Given the description of an element on the screen output the (x, y) to click on. 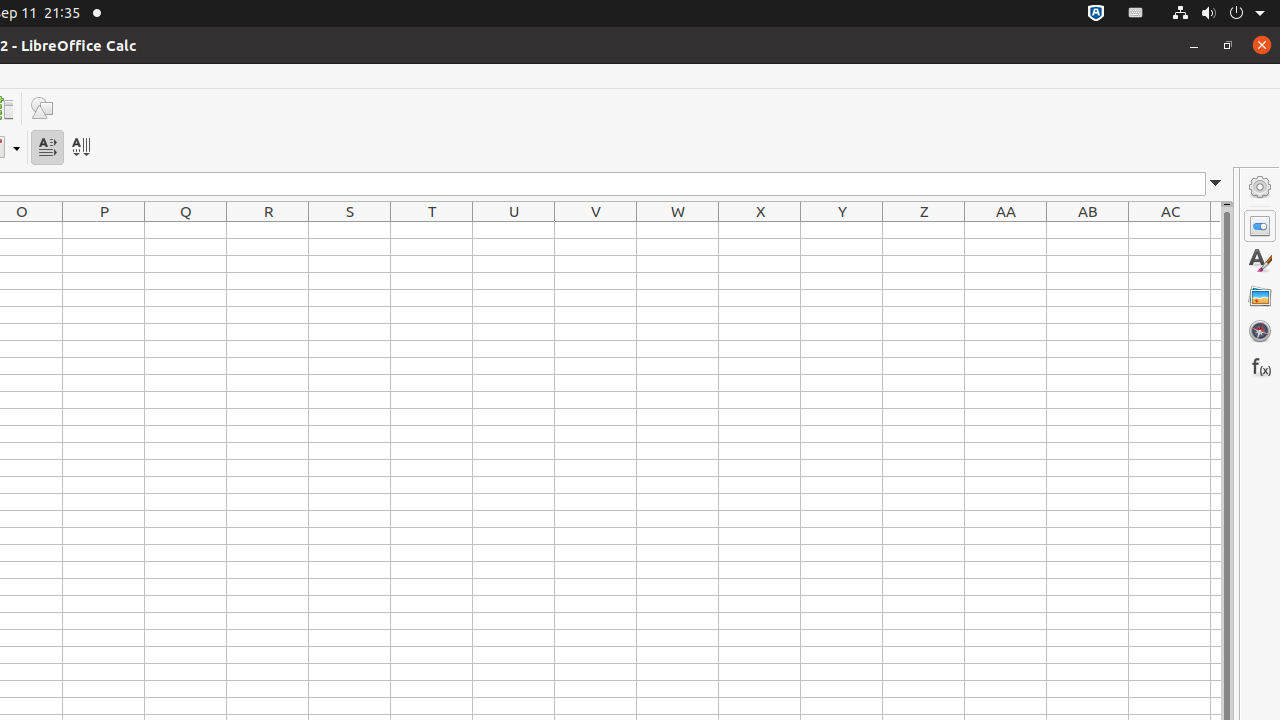
P1 Element type: table-cell (104, 230)
Text direction from left to right Element type: toggle-button (47, 147)
